Given the description of an element on the screen output the (x, y) to click on. 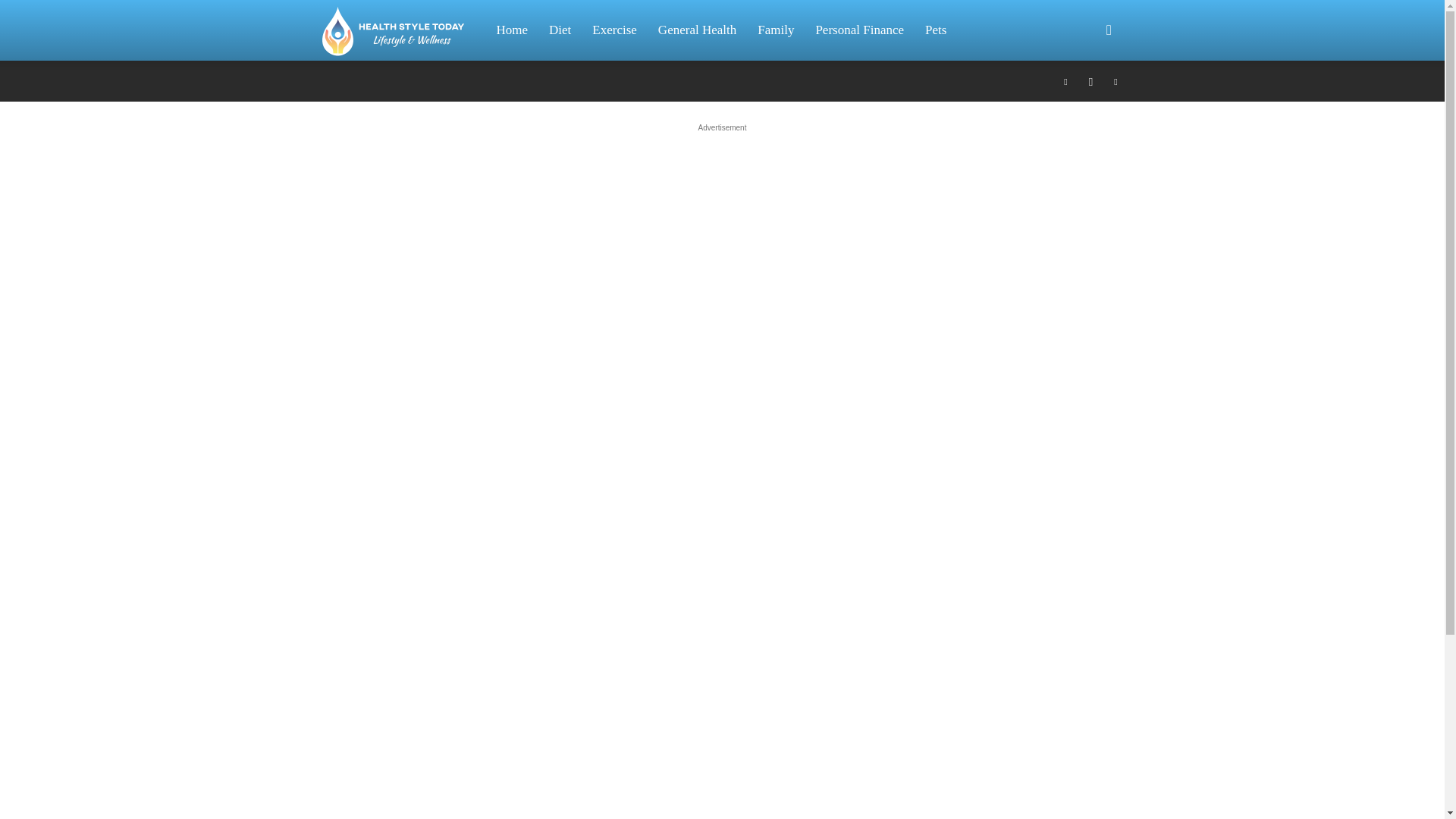
General Health (696, 30)
HealthsToday (400, 30)
Exercise (613, 30)
HealthsToday Hands holding a tear drop bubble (392, 31)
